Given the description of an element on the screen output the (x, y) to click on. 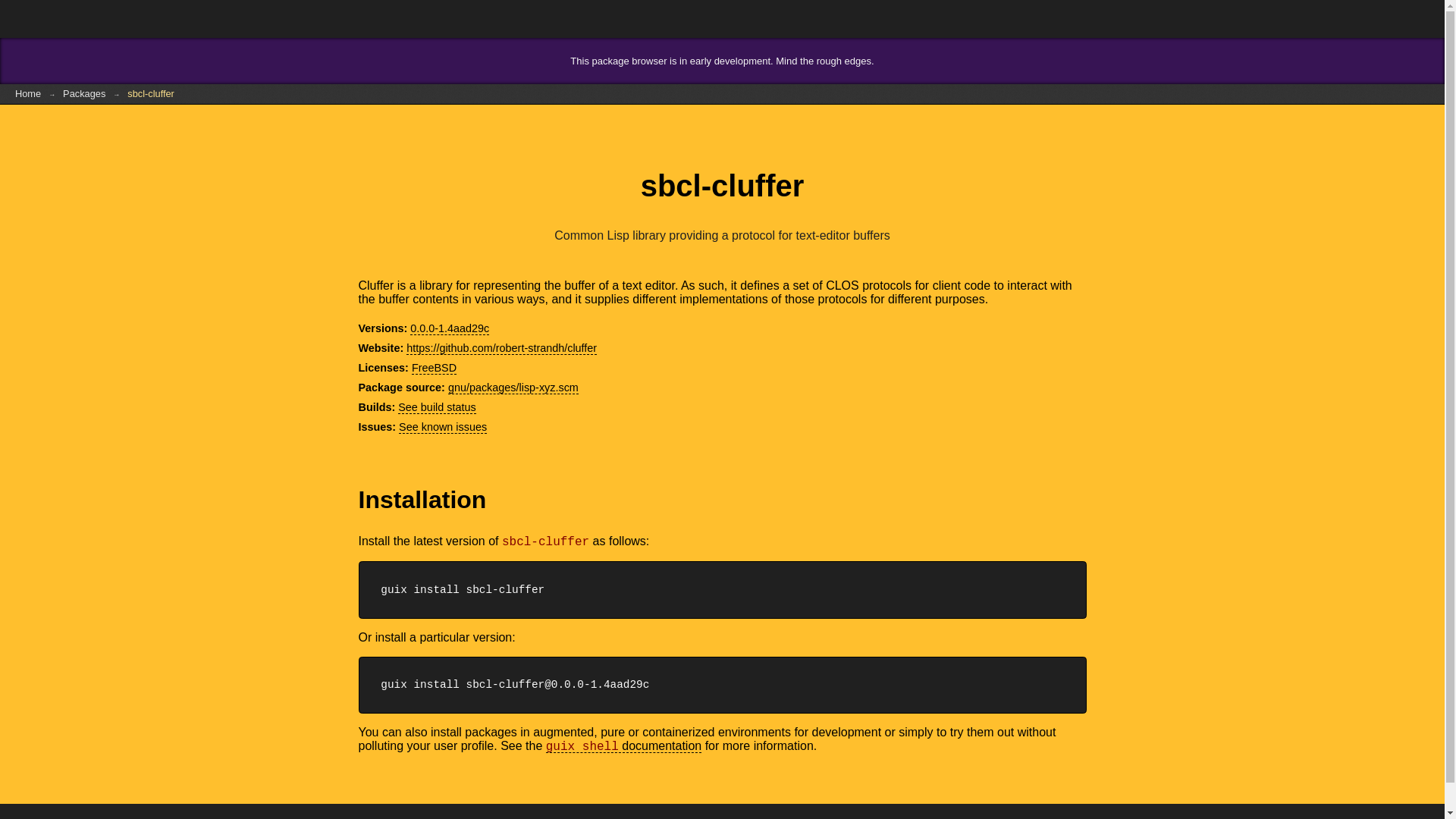
0.0.0-1.4aad29c (449, 328)
GNU Guix (60, 18)
Packages (84, 94)
guix shell documentation (623, 745)
FreeBSD (434, 367)
sbcl-cluffer (150, 94)
See known issues (442, 427)
Home (28, 94)
See build status (436, 407)
